Given the description of an element on the screen output the (x, y) to click on. 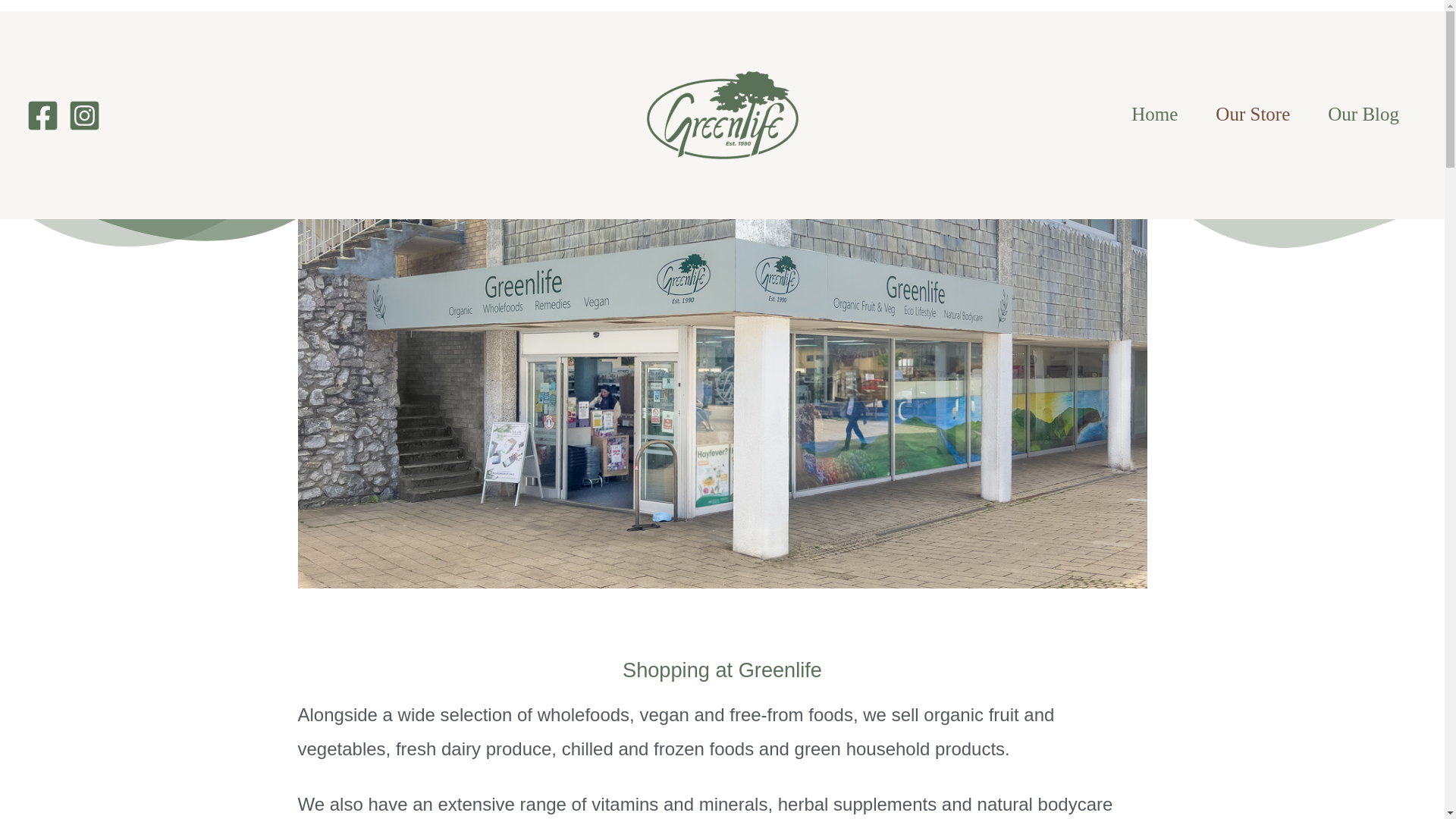
Home (1154, 114)
Our Blog (1363, 114)
Our Store (1252, 114)
